Given the description of an element on the screen output the (x, y) to click on. 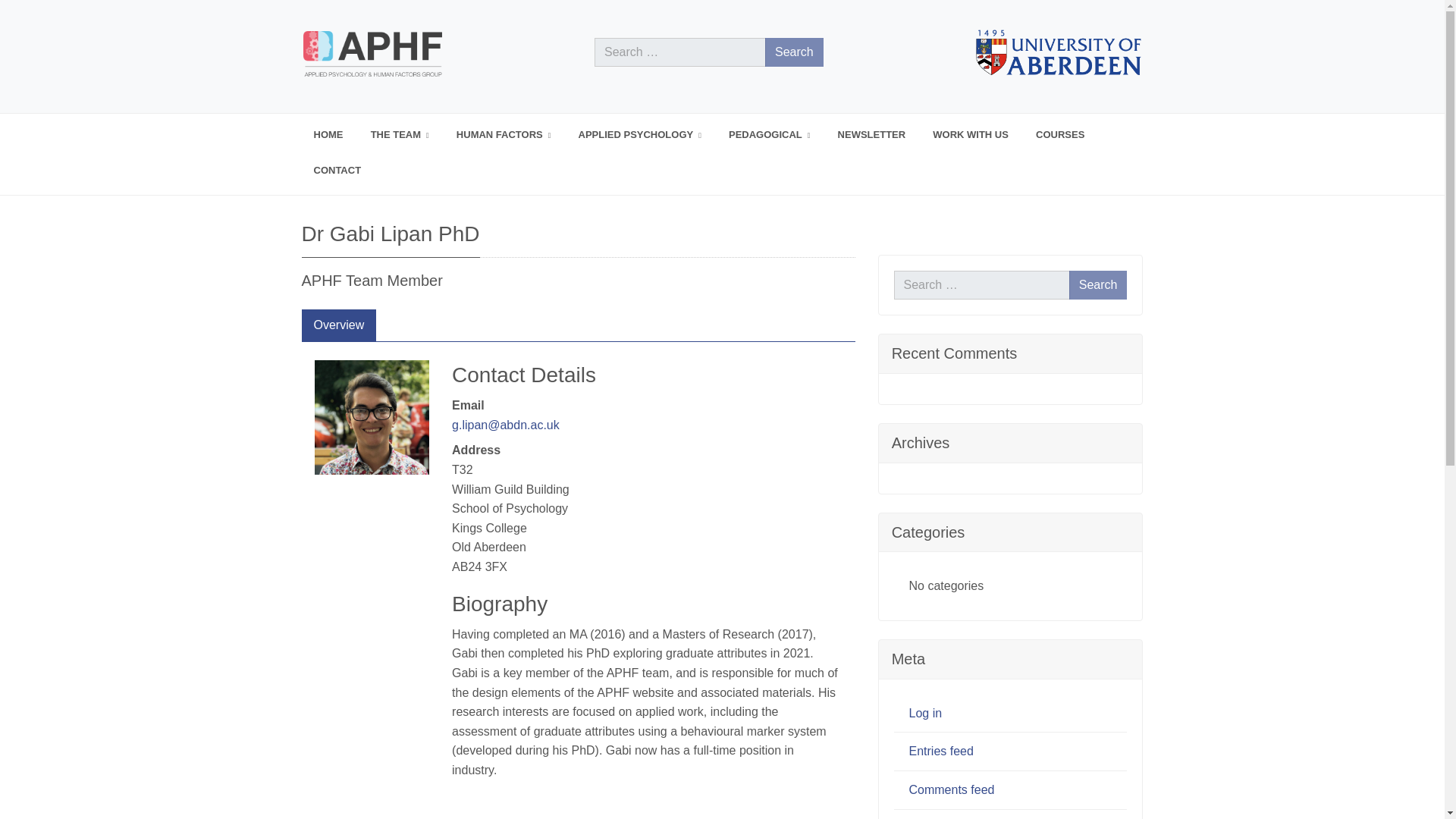
HUMAN FACTORS (503, 135)
Search (794, 51)
HOME (328, 135)
NEWSLETTER (871, 135)
Search (794, 51)
PEDAGOGICAL (769, 135)
APPLIED PSYCHOLOGY (639, 135)
Search (1097, 285)
THE TEAM (399, 135)
Dr Gabi Lipan (371, 417)
